Given the description of an element on the screen output the (x, y) to click on. 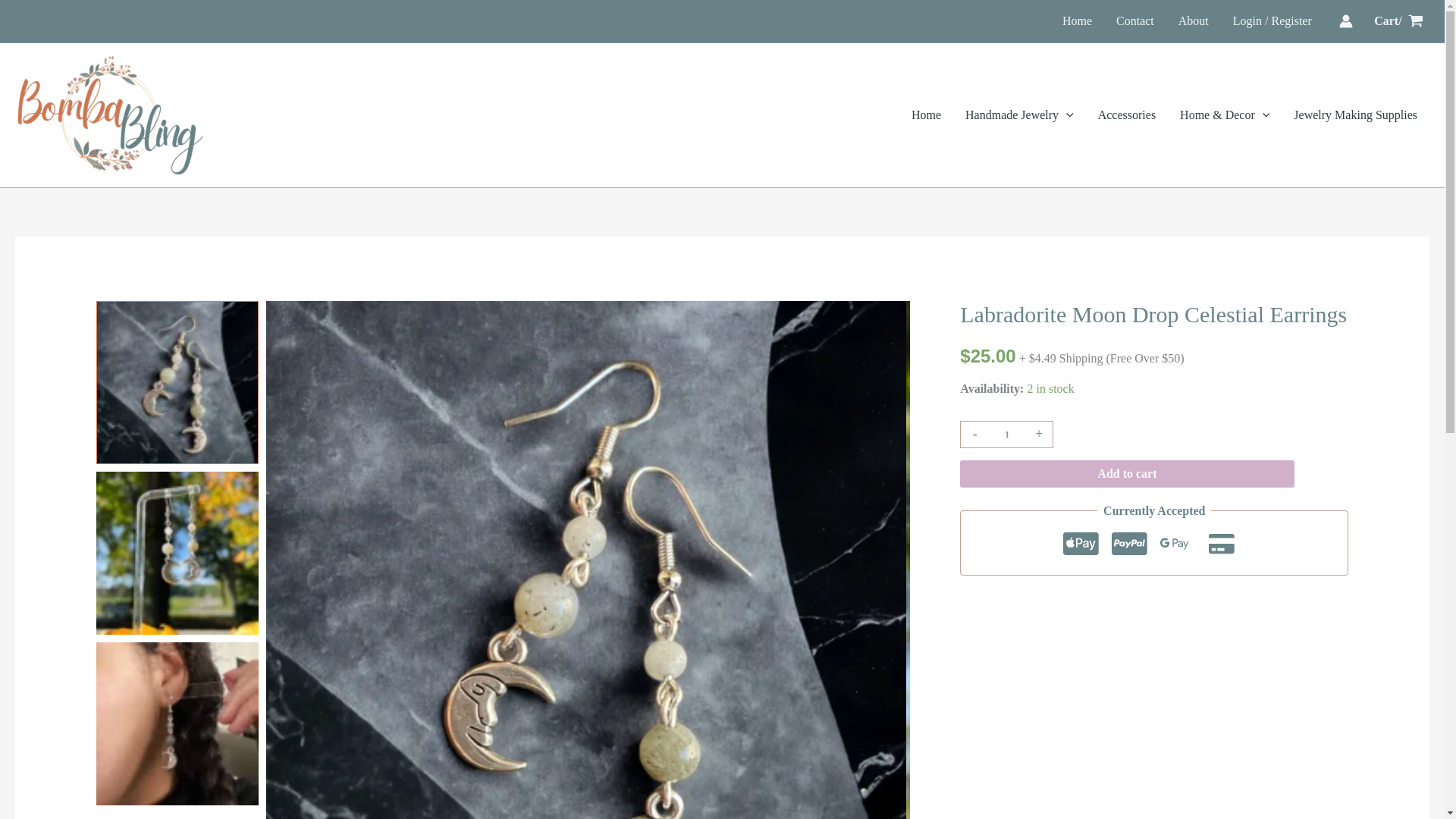
Add to cart (1126, 473)
Home (926, 114)
Accessories (1126, 114)
- (973, 433)
Handmade Jewelry (1019, 114)
About (1193, 20)
Contact (1134, 20)
Jewelry Making Supplies (1355, 114)
1 (1006, 433)
Home (1076, 20)
